Given the description of an element on the screen output the (x, y) to click on. 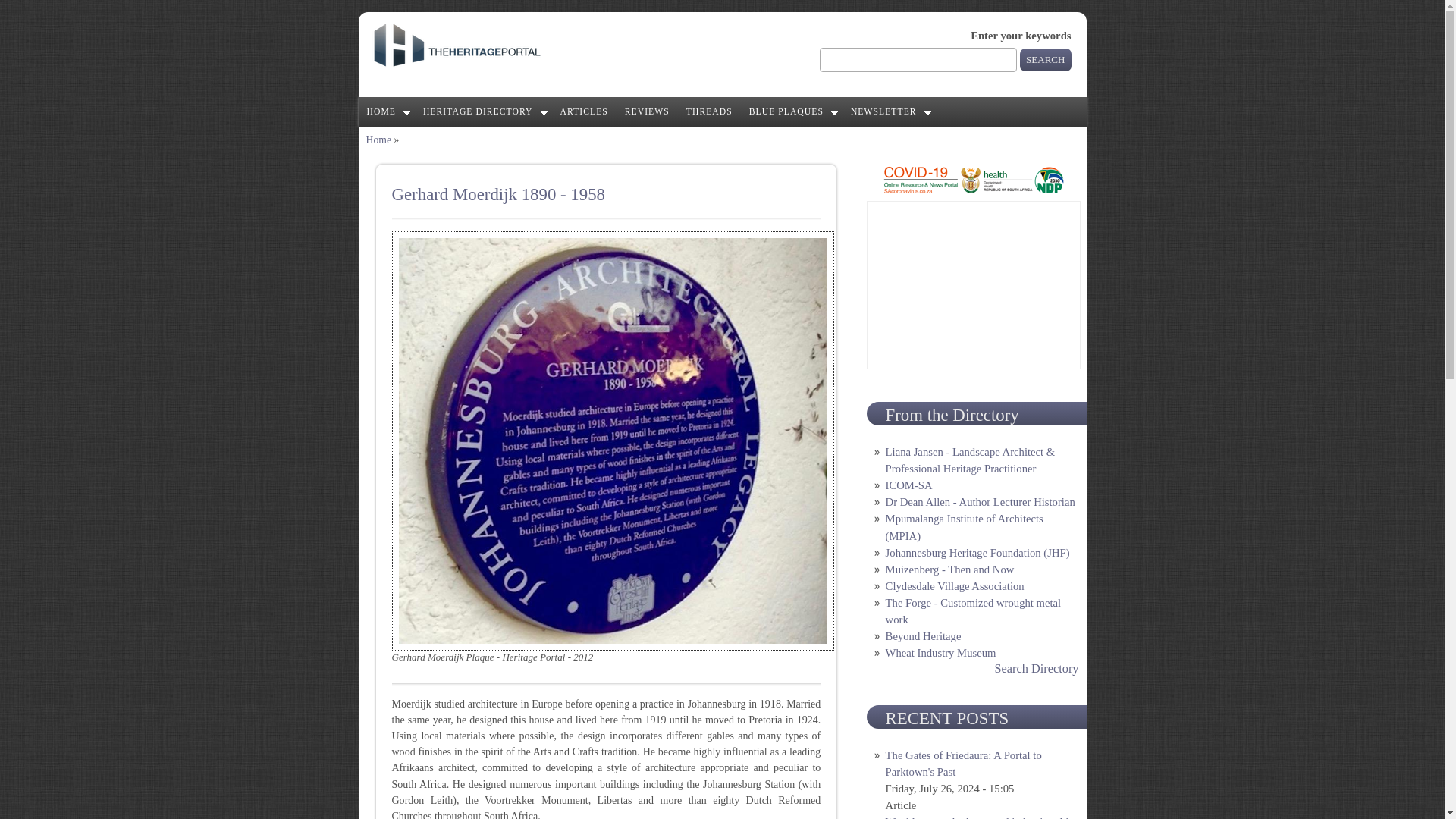
NEWSLETTER (889, 111)
Search (1045, 59)
ARTICLES (583, 111)
HOME (385, 111)
BLUE PLAQUES (792, 111)
Dr Dean Allen - Author Lecturer Historian (980, 501)
Clydesdale Village Association (955, 585)
HERITAGE DIRECTORY (482, 111)
ICOM-SA (909, 485)
Gerhard Moerdijk 1890 - 1958 (497, 194)
Search (1045, 59)
THREADS (709, 111)
REVIEWS (646, 111)
